Given the description of an element on the screen output the (x, y) to click on. 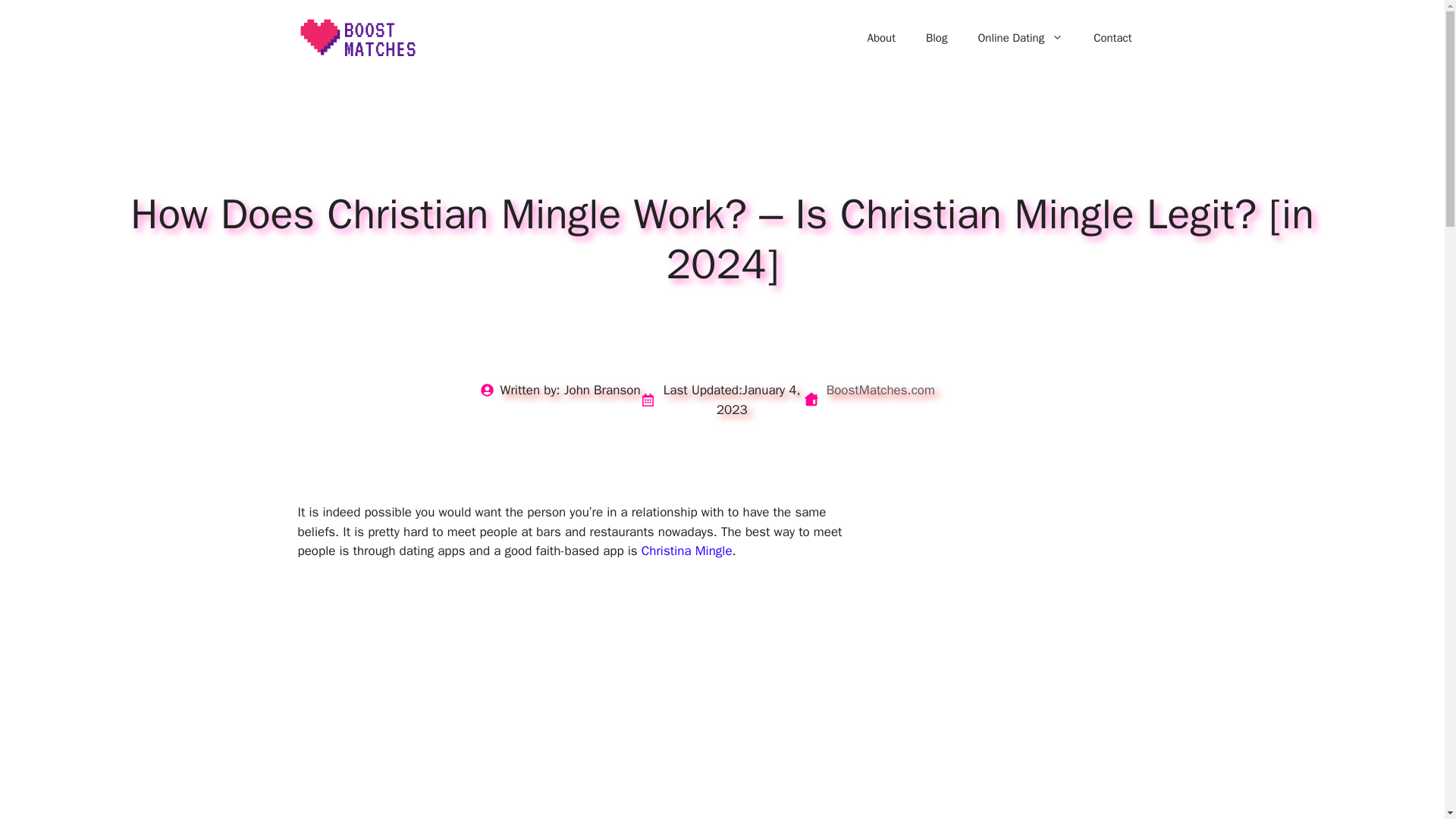
January 4, 2023 (758, 399)
Blog (936, 37)
John Branson (602, 390)
Online Dating (1020, 37)
Contact (1112, 37)
BoostMatches.com (880, 390)
AFF (1040, 591)
Christina Mingle (687, 550)
About (880, 37)
